Given the description of an element on the screen output the (x, y) to click on. 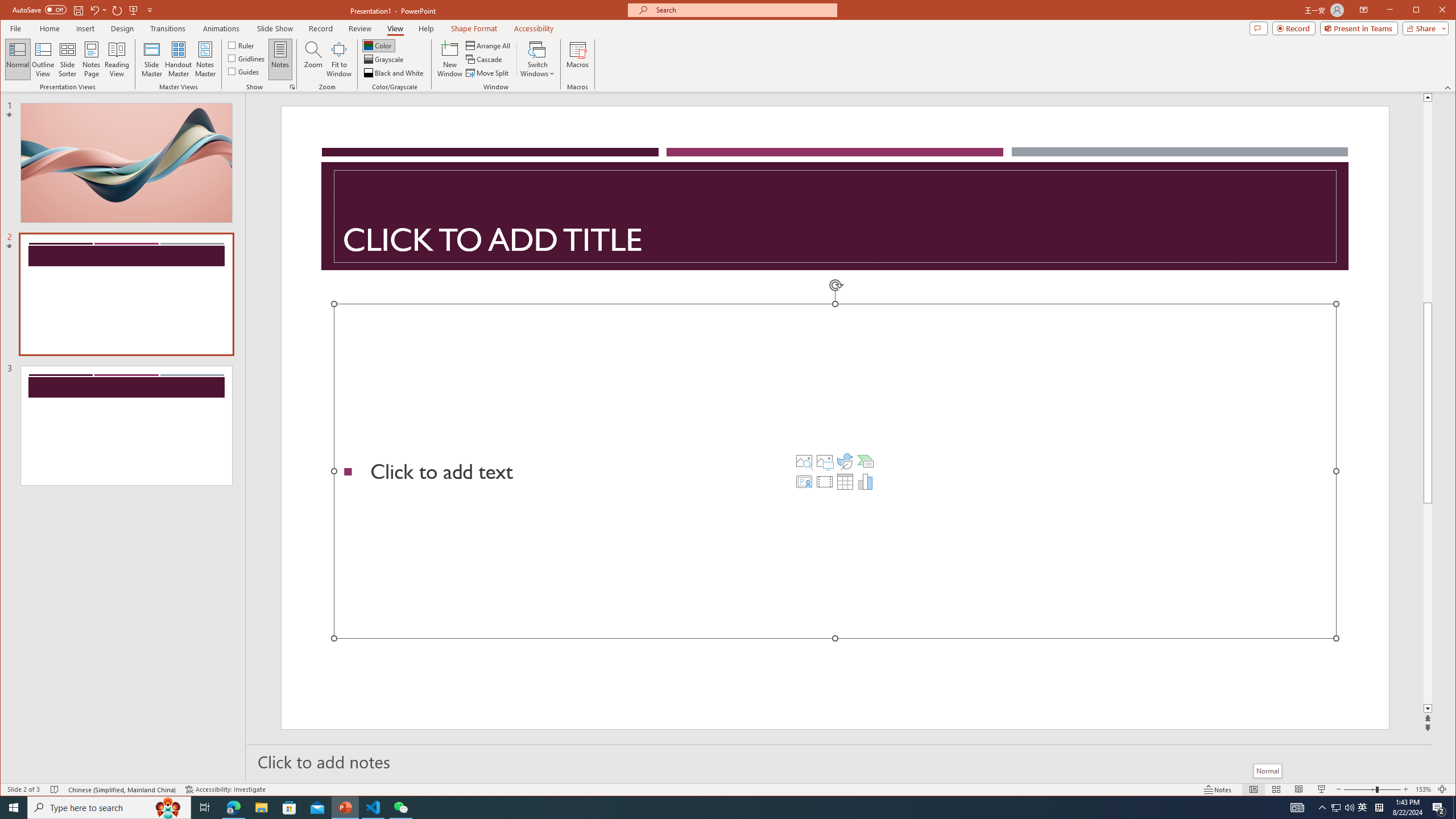
Slide Master (151, 59)
Zoom 153% (1422, 789)
Content Placeholder (835, 471)
